Given the description of an element on the screen output the (x, y) to click on. 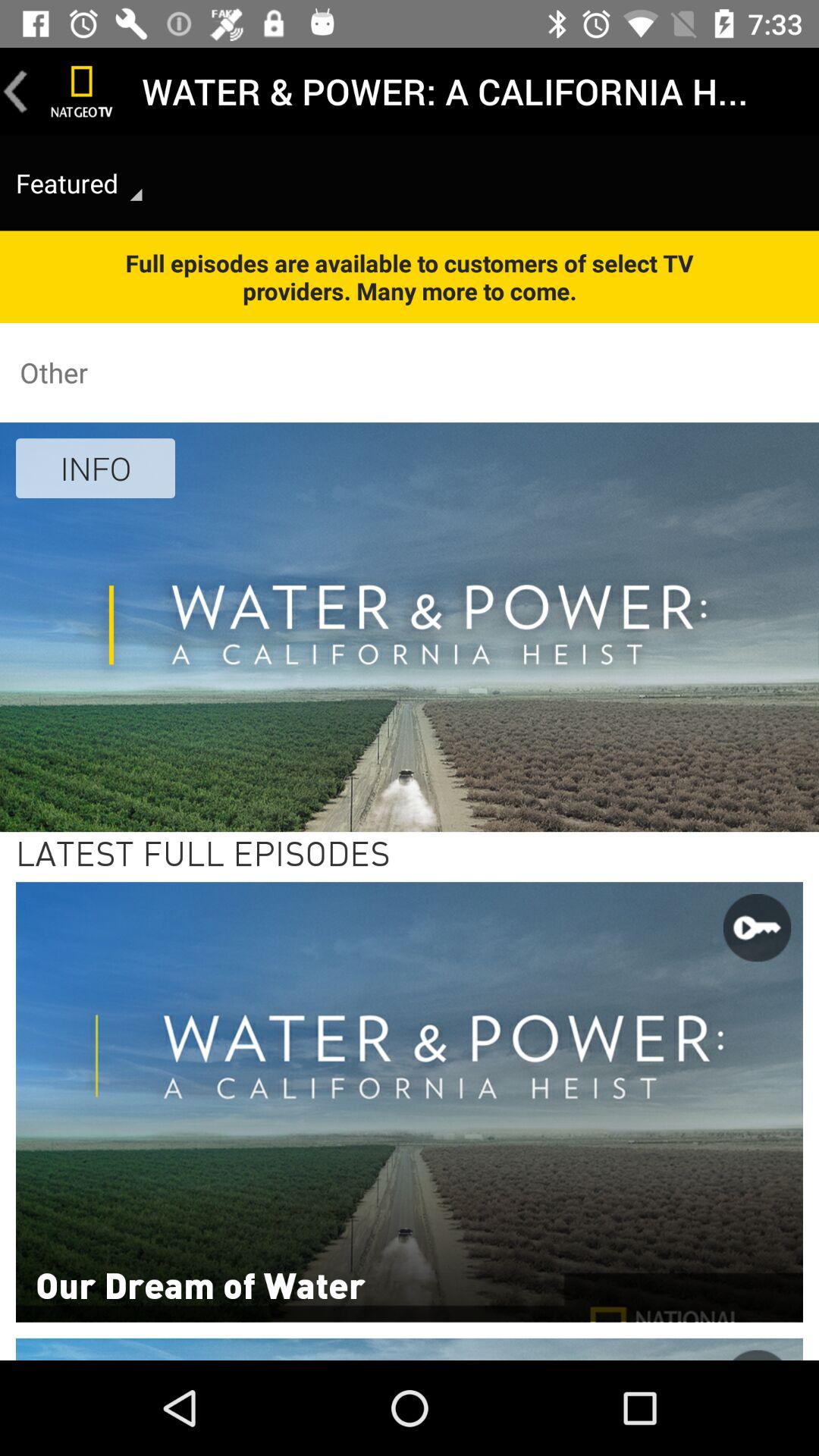
turn on item to the left of water power a item (81, 91)
